Given the description of an element on the screen output the (x, y) to click on. 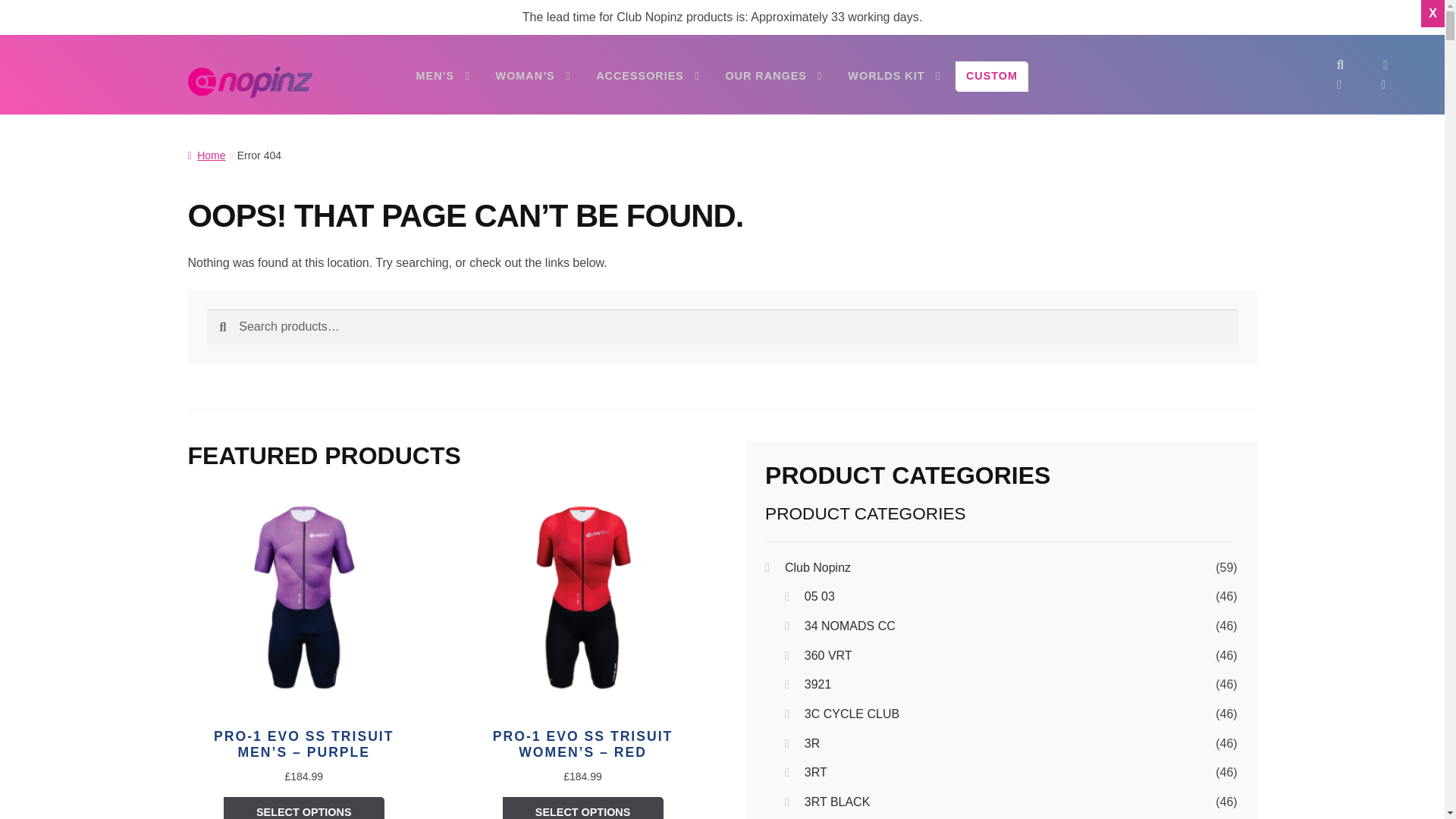
ACCESSORIES (647, 76)
